Given the description of an element on the screen output the (x, y) to click on. 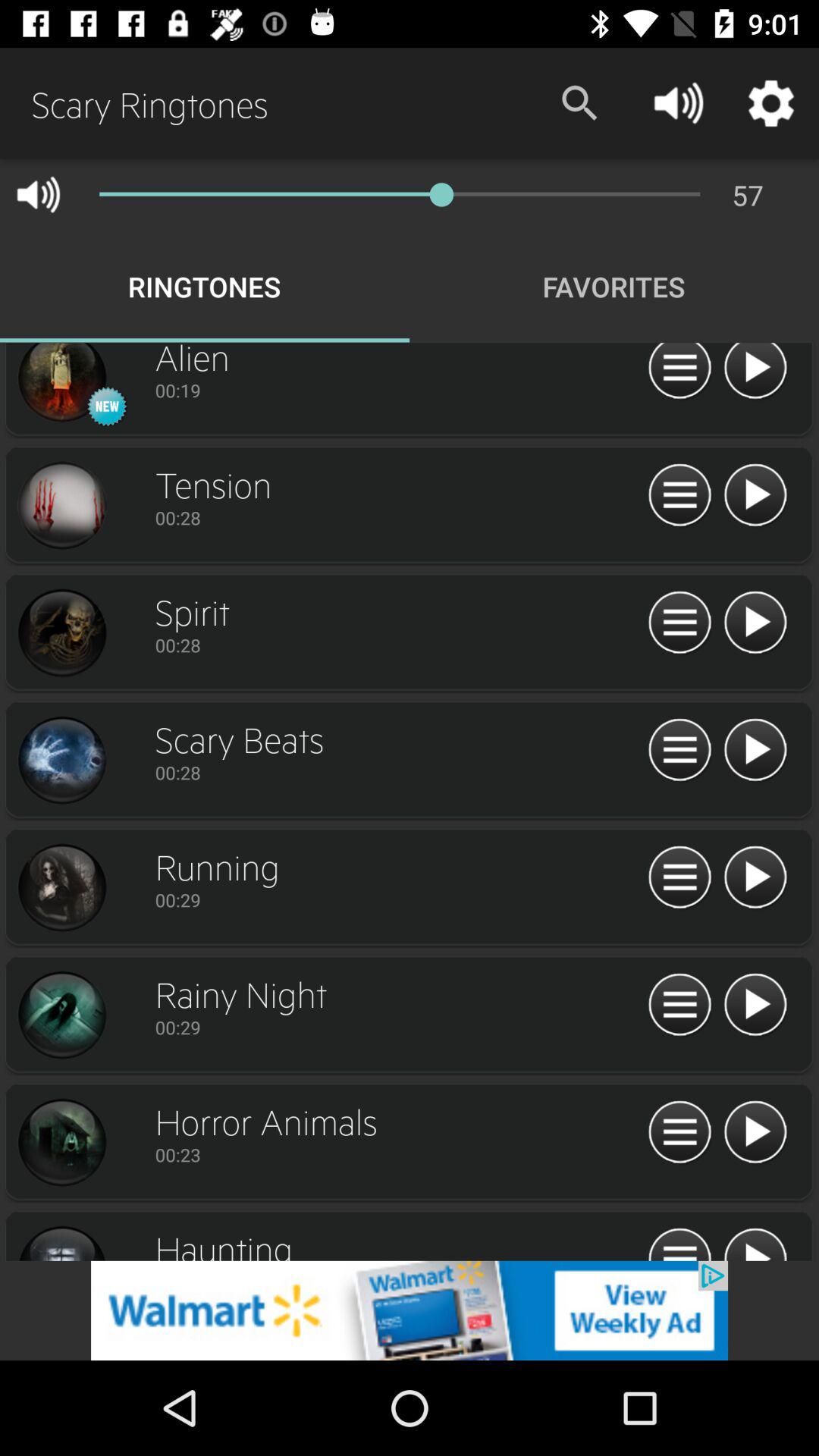
play button (755, 750)
